Given the description of an element on the screen output the (x, y) to click on. 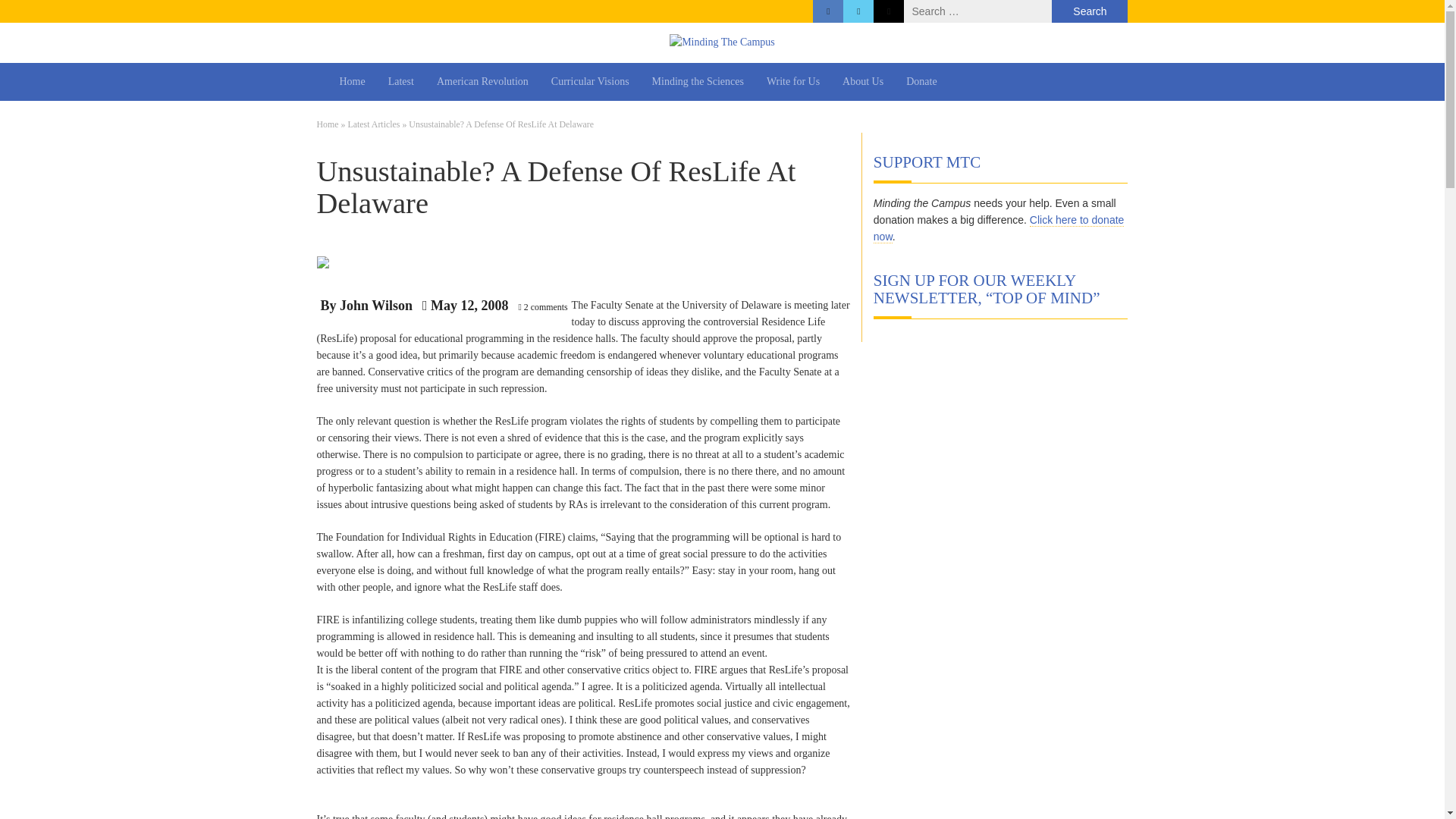
Latest (401, 81)
American Revolution (482, 81)
Donate (921, 81)
Write for Us (793, 81)
Search (1088, 11)
Write for Us (793, 81)
About Us (863, 81)
Latest Articles (372, 123)
Donate (921, 81)
By John Wilson (366, 307)
Minding the Sciences (697, 81)
Latest (401, 81)
2 comments (545, 307)
American Revolution (482, 81)
Home (328, 123)
